Given the description of an element on the screen output the (x, y) to click on. 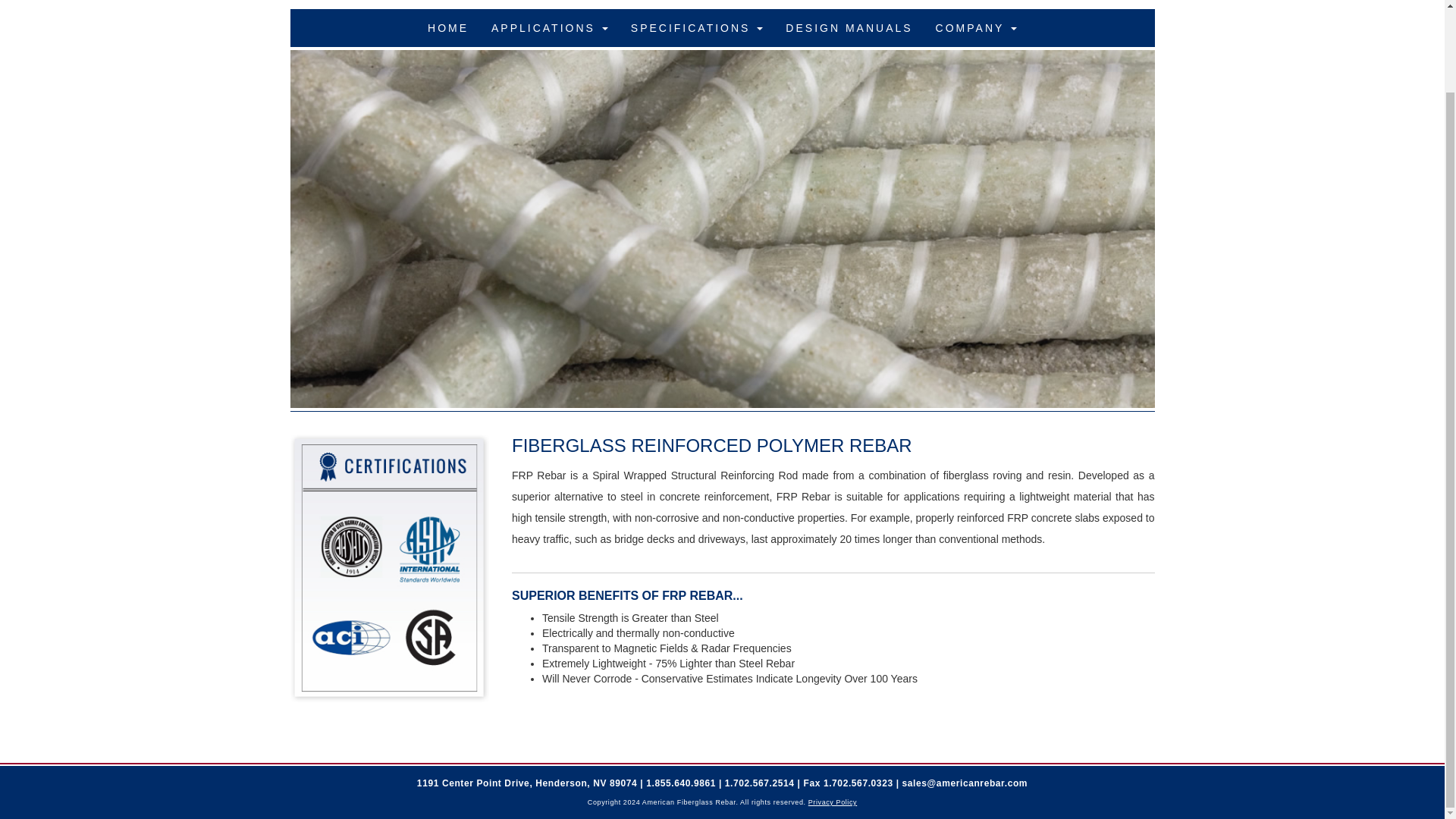
Privacy Policy (832, 801)
HOME (448, 27)
APPLICATIONS (550, 27)
DESIGN MANUALS (848, 27)
SPECIFICATIONS (697, 27)
COMPANY (975, 27)
